Given the description of an element on the screen output the (x, y) to click on. 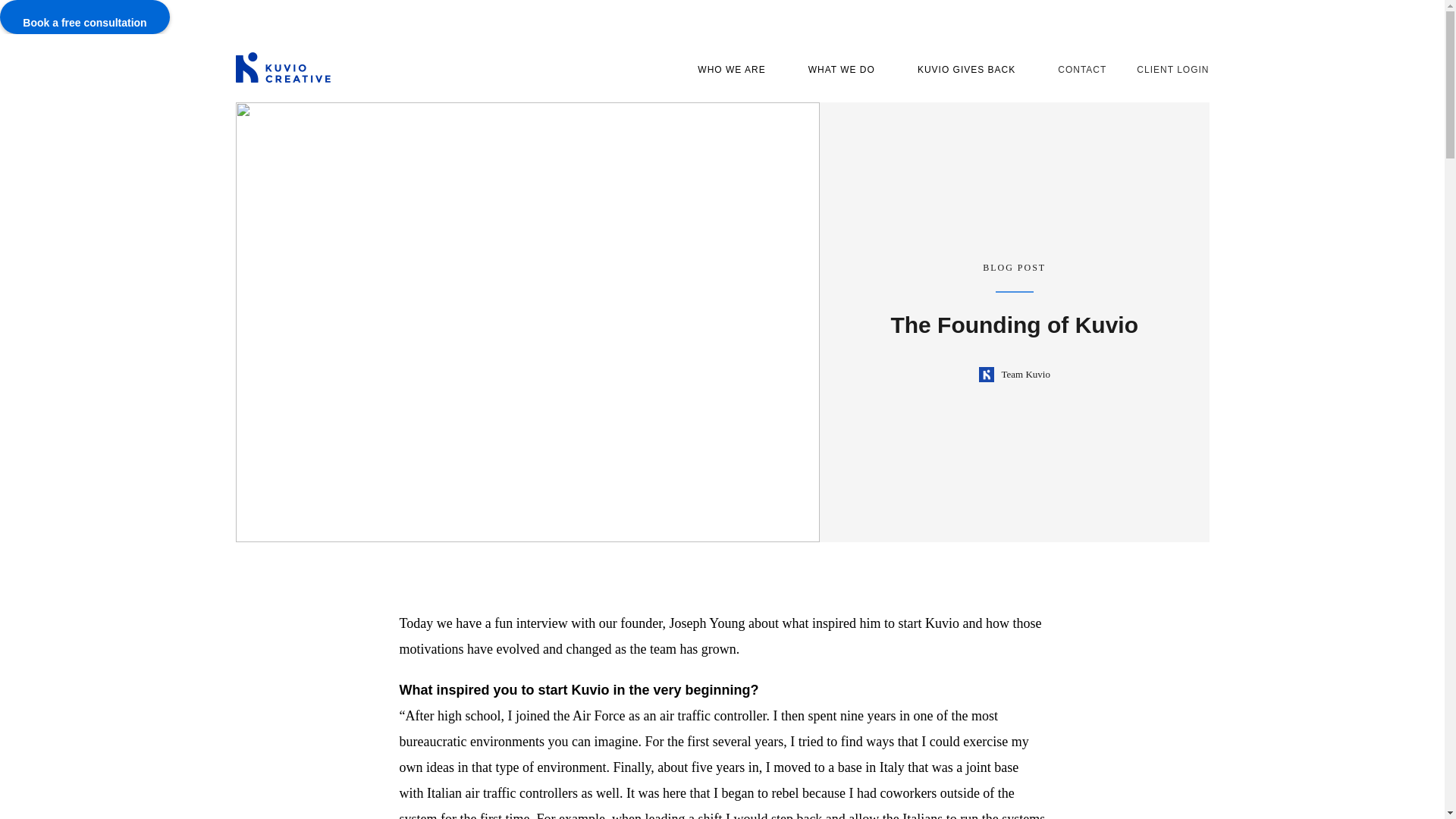
WHO WE ARE (721, 69)
CONTACT (1082, 69)
CLIENT LOGIN (1172, 69)
WHAT WE DO (831, 69)
KUVIO GIVES BACK (956, 69)
Book a free consultation (85, 17)
